Given the description of an element on the screen output the (x, y) to click on. 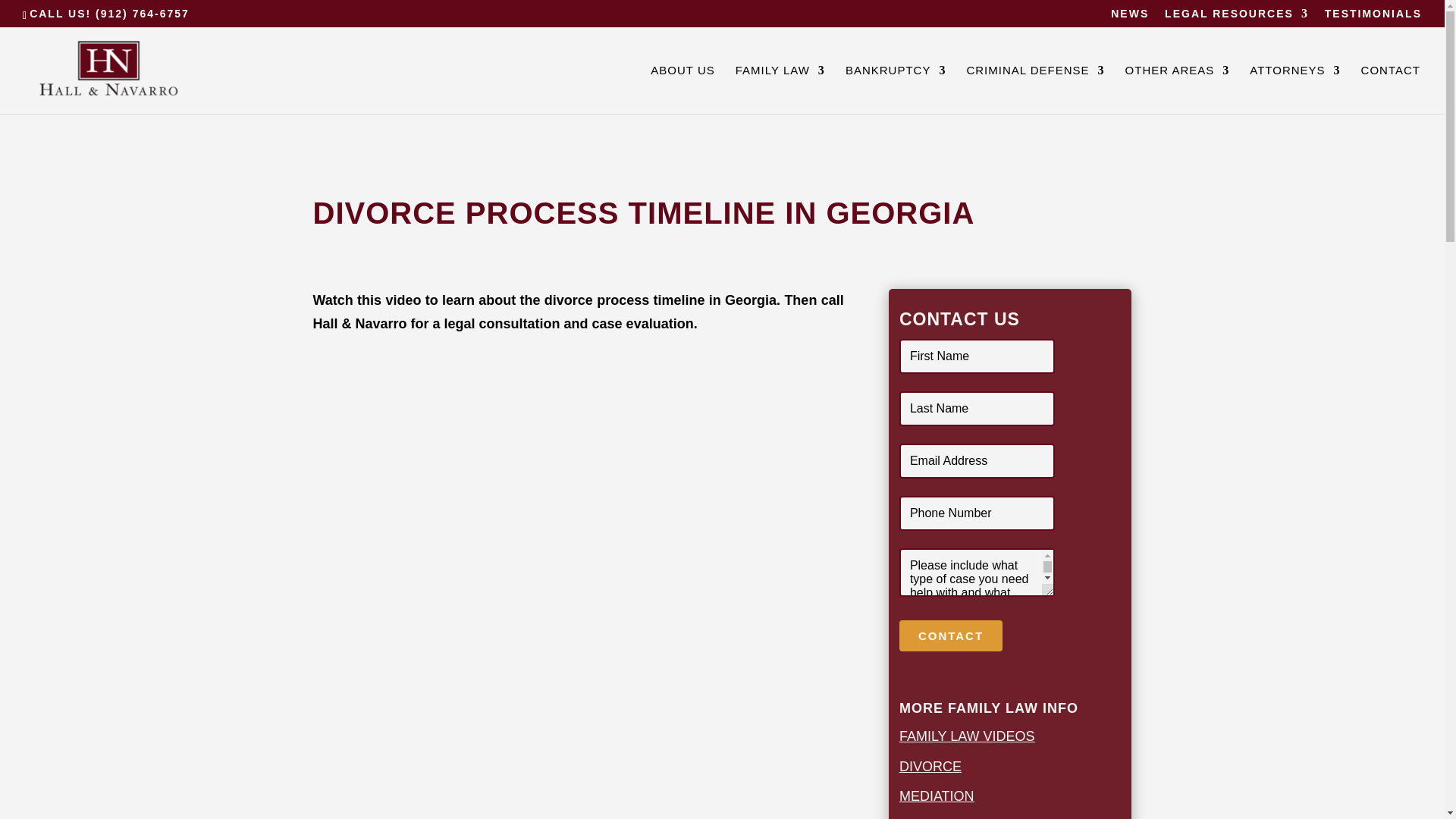
BANKRUPTCY (895, 89)
ABOUT US (682, 89)
CRIMINAL DEFENSE (1034, 89)
LEGAL RESOURCES (1236, 16)
ATTORNEYS (1294, 89)
FAMILY LAW (780, 89)
NEWS (1129, 16)
OTHER AREAS (1177, 89)
Contact (951, 635)
TESTIMONIALS (1373, 16)
